Given the description of an element on the screen output the (x, y) to click on. 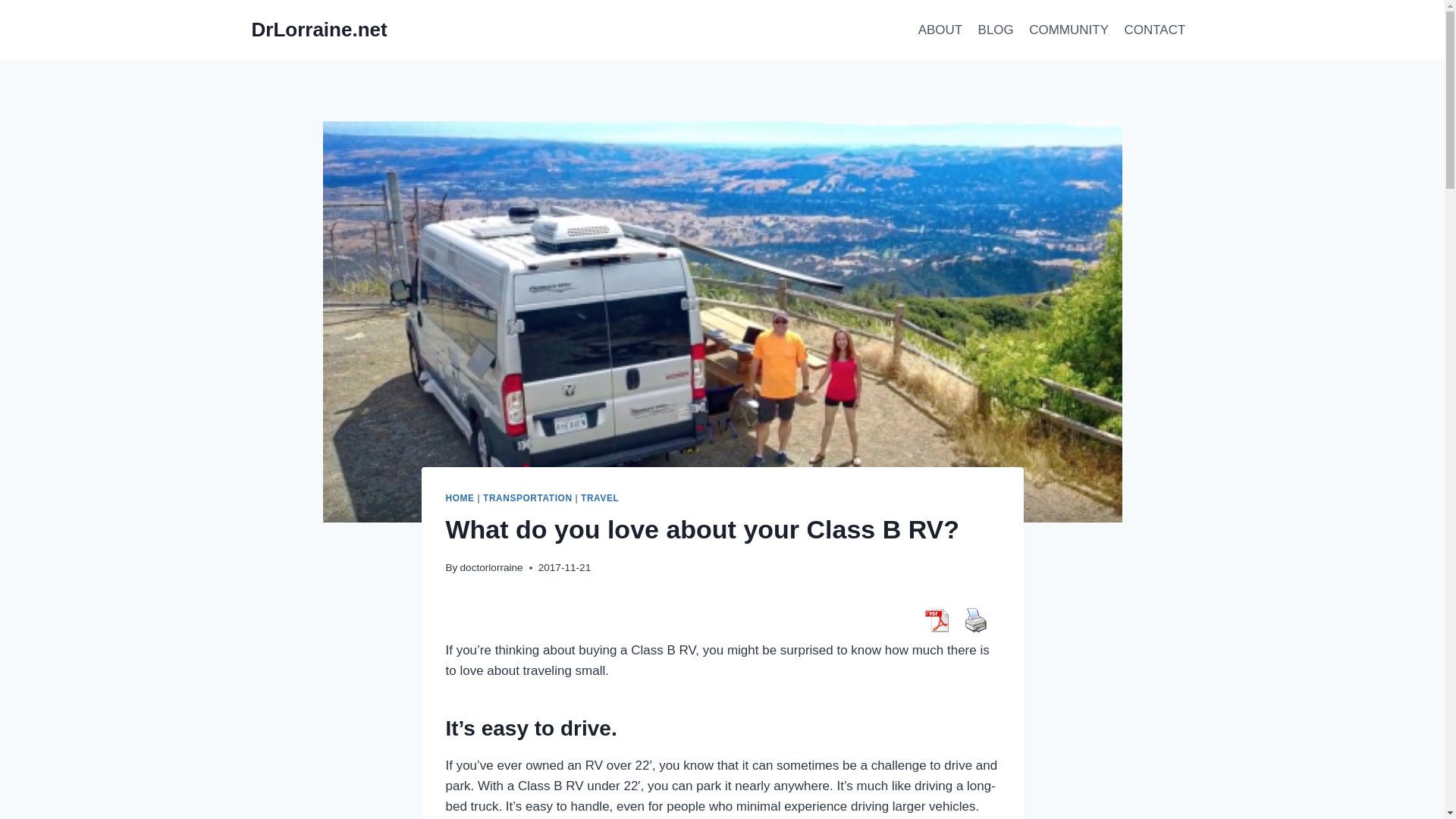
BLOG (995, 30)
Print Content (975, 620)
CONTACT (1154, 30)
doctorlorraine (491, 567)
COMMUNITY (1069, 30)
TRAVEL (599, 498)
TRANSPORTATION (527, 498)
HOME (459, 498)
DrLorraine.net (319, 29)
ABOUT (939, 30)
View PDF (936, 620)
